Given the description of an element on the screen output the (x, y) to click on. 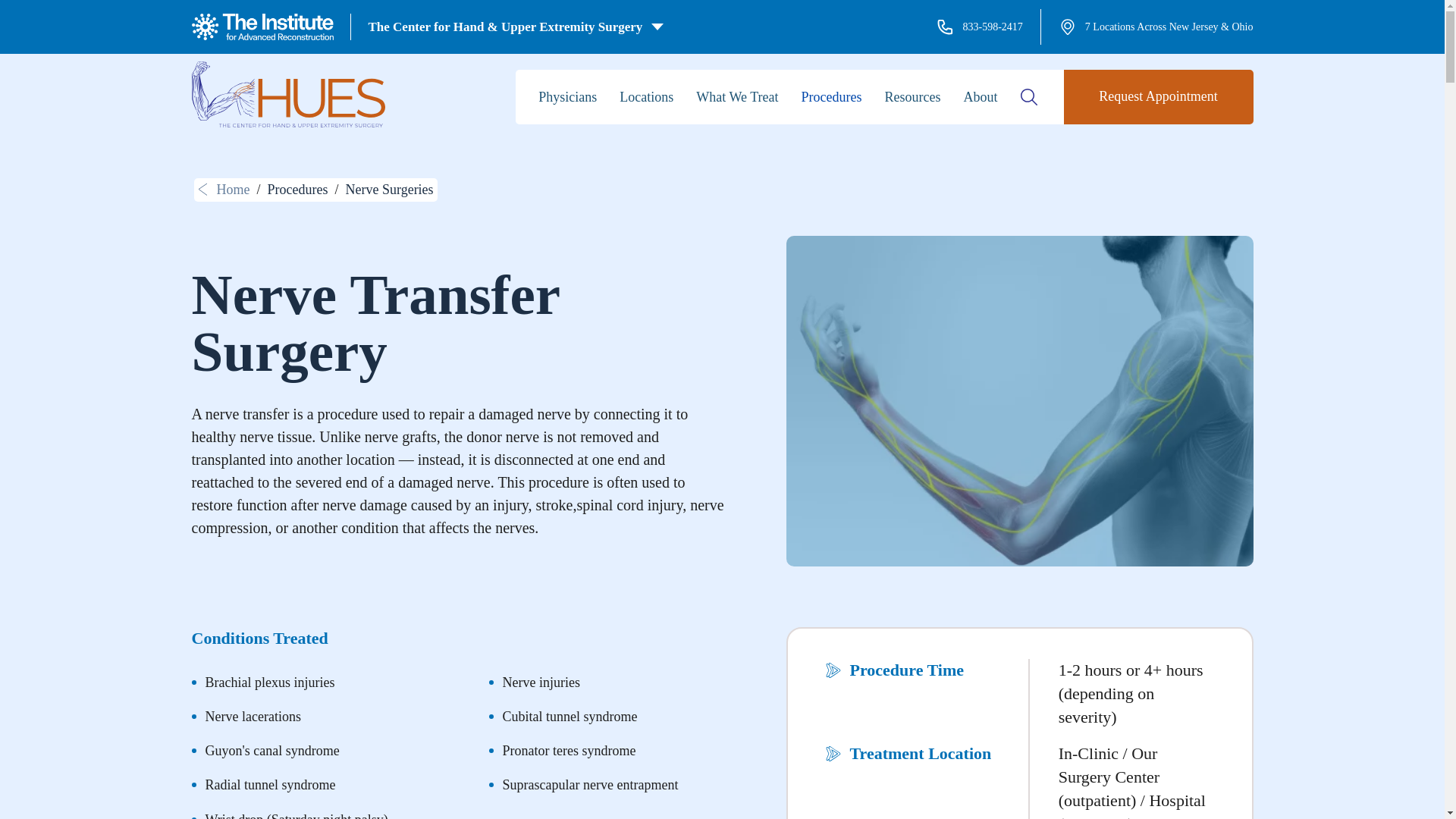
833-598-2417 (979, 27)
Physicians (567, 96)
What We Treat (736, 96)
Hues (287, 94)
Locations (646, 96)
